Given the description of an element on the screen output the (x, y) to click on. 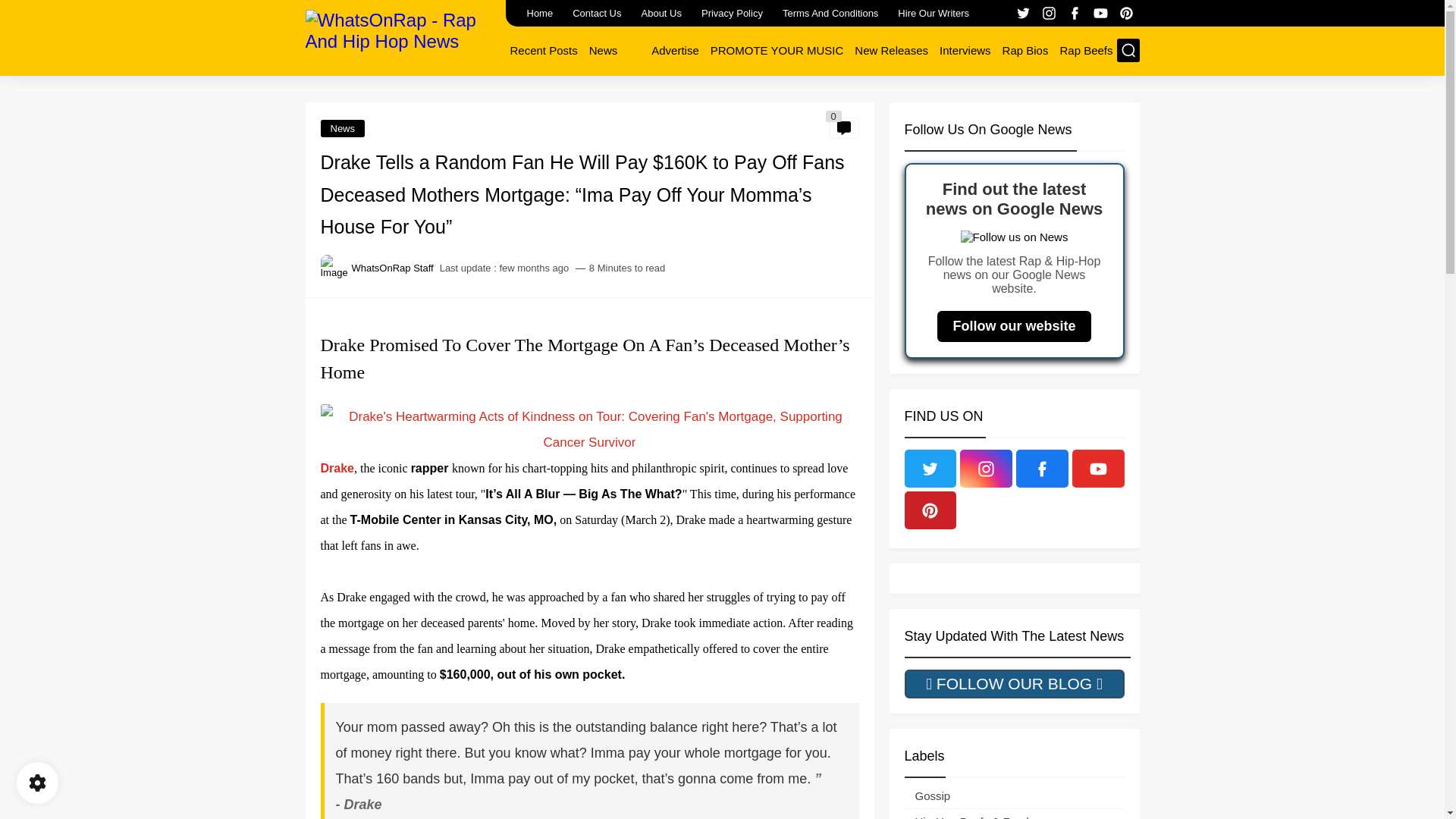
0 (843, 127)
Advertise (674, 50)
Contact Us (596, 12)
New Releases (891, 50)
Home (539, 12)
Interviews (965, 50)
Recent Posts (542, 50)
Privacy Policy (731, 12)
News (342, 128)
Advertise (674, 50)
News (603, 50)
Rap Beefs (1085, 50)
Terms And Conditions (829, 12)
PROMOTE YOUR MUSIC (777, 50)
About Us (660, 12)
